Given the description of an element on the screen output the (x, y) to click on. 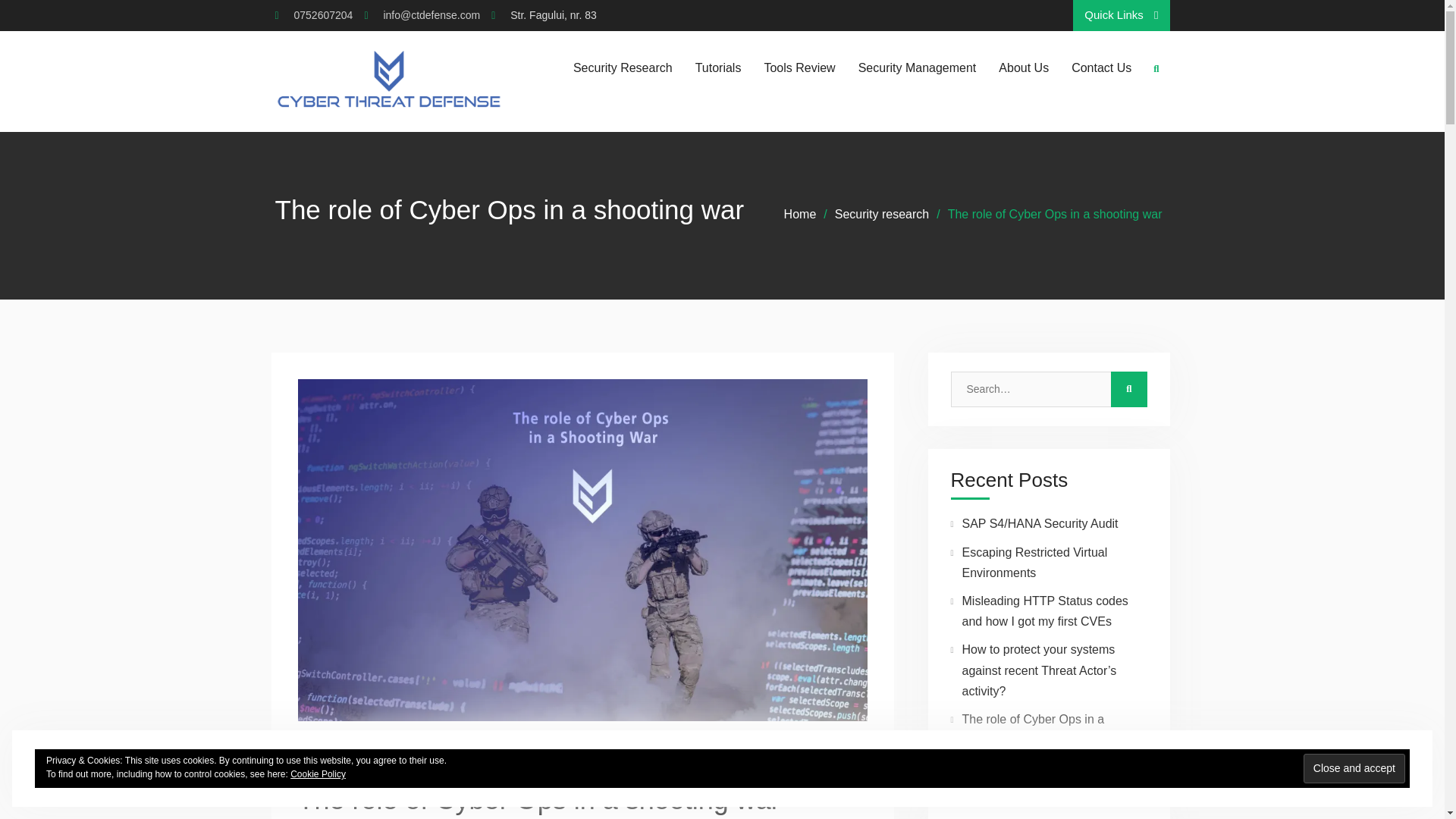
0752607204 (323, 15)
Search for: (1034, 389)
July 14, 2022 (344, 753)
Home (800, 214)
Bogdan Mihalca (451, 753)
Security Management (917, 67)
Close and accept (1354, 767)
Security Research (622, 67)
Security research (882, 214)
Tutorials (718, 67)
Quick Links (1121, 15)
Contact Us (1101, 67)
About Us (1023, 67)
Tools Review (798, 67)
